Given the description of an element on the screen output the (x, y) to click on. 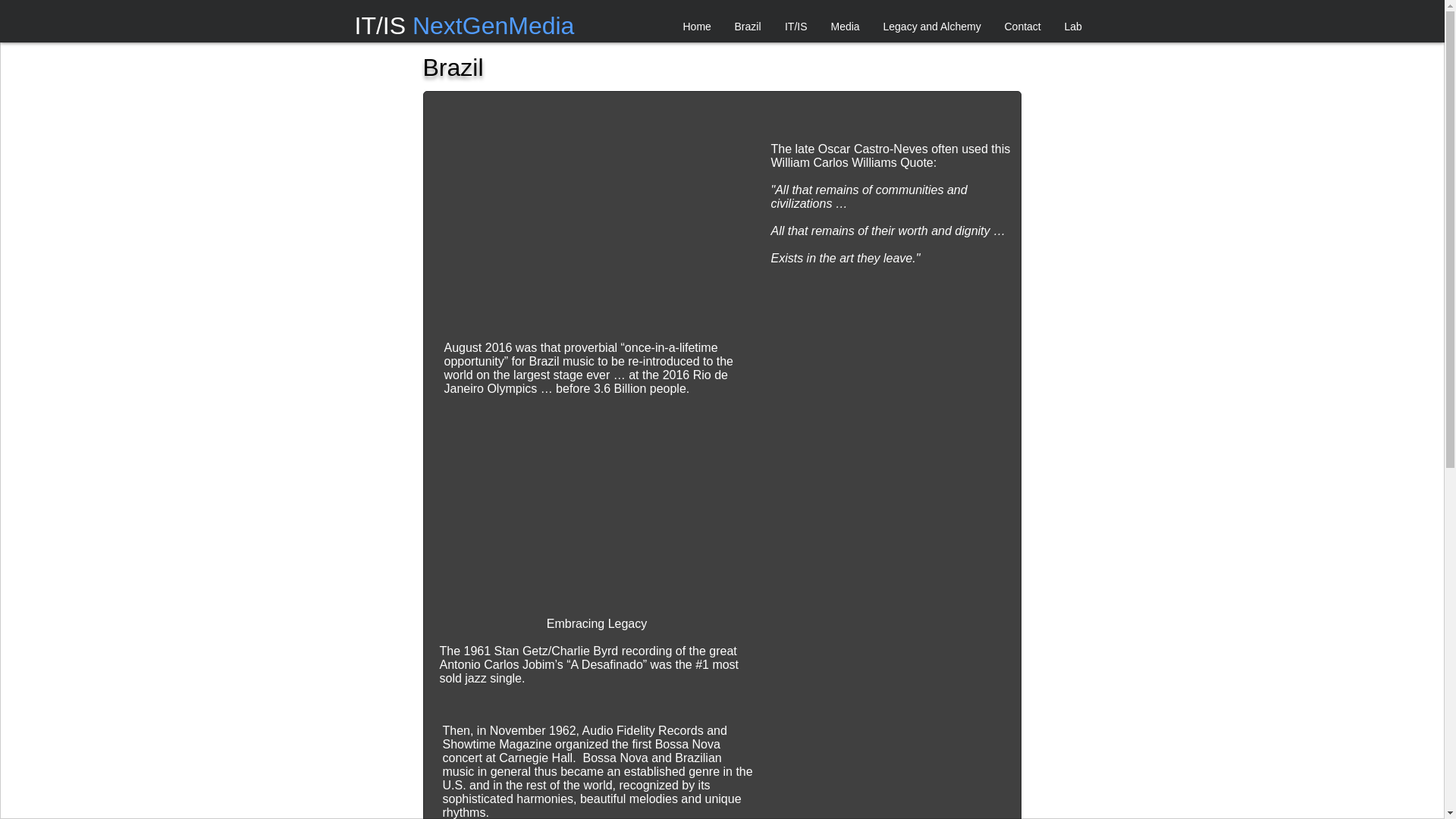
Contact (1022, 25)
Legacy and Alchemy (932, 25)
Lab (1072, 25)
Brazil (748, 25)
Media (844, 25)
Home (696, 25)
